Given the description of an element on the screen output the (x, y) to click on. 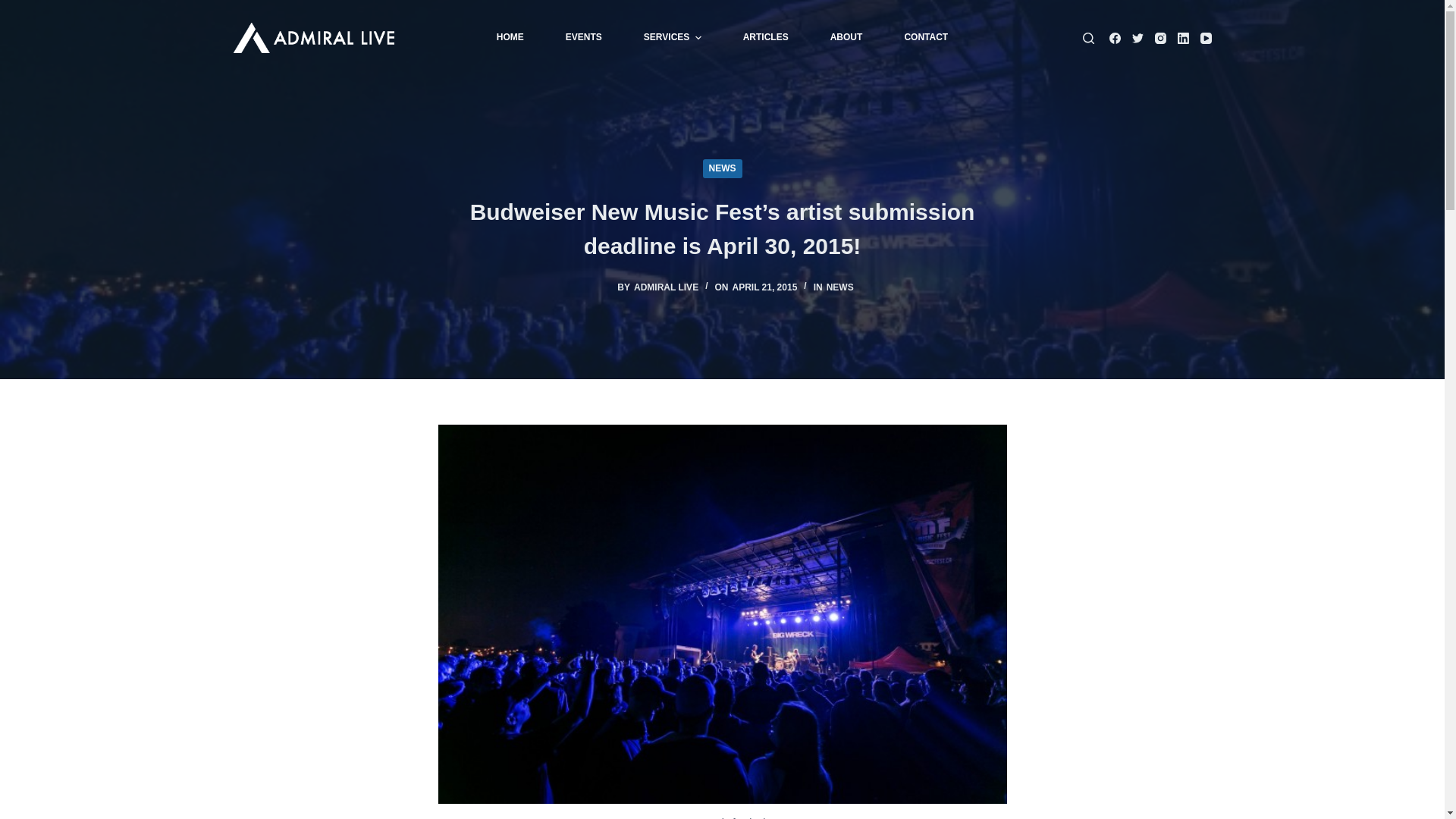
CONTACT Element type: text (926, 37)
ABOUT Element type: text (846, 37)
HOME Element type: text (509, 37)
SERVICES Element type: text (671, 37)
ADMIRAL LIVE Element type: text (665, 287)
Skip to content Element type: text (15, 7)
ARTICLES Element type: text (765, 37)
NEWS Element type: text (839, 287)
EVENTS Element type: text (583, 37)
NEWS Element type: text (721, 168)
